Given the description of an element on the screen output the (x, y) to click on. 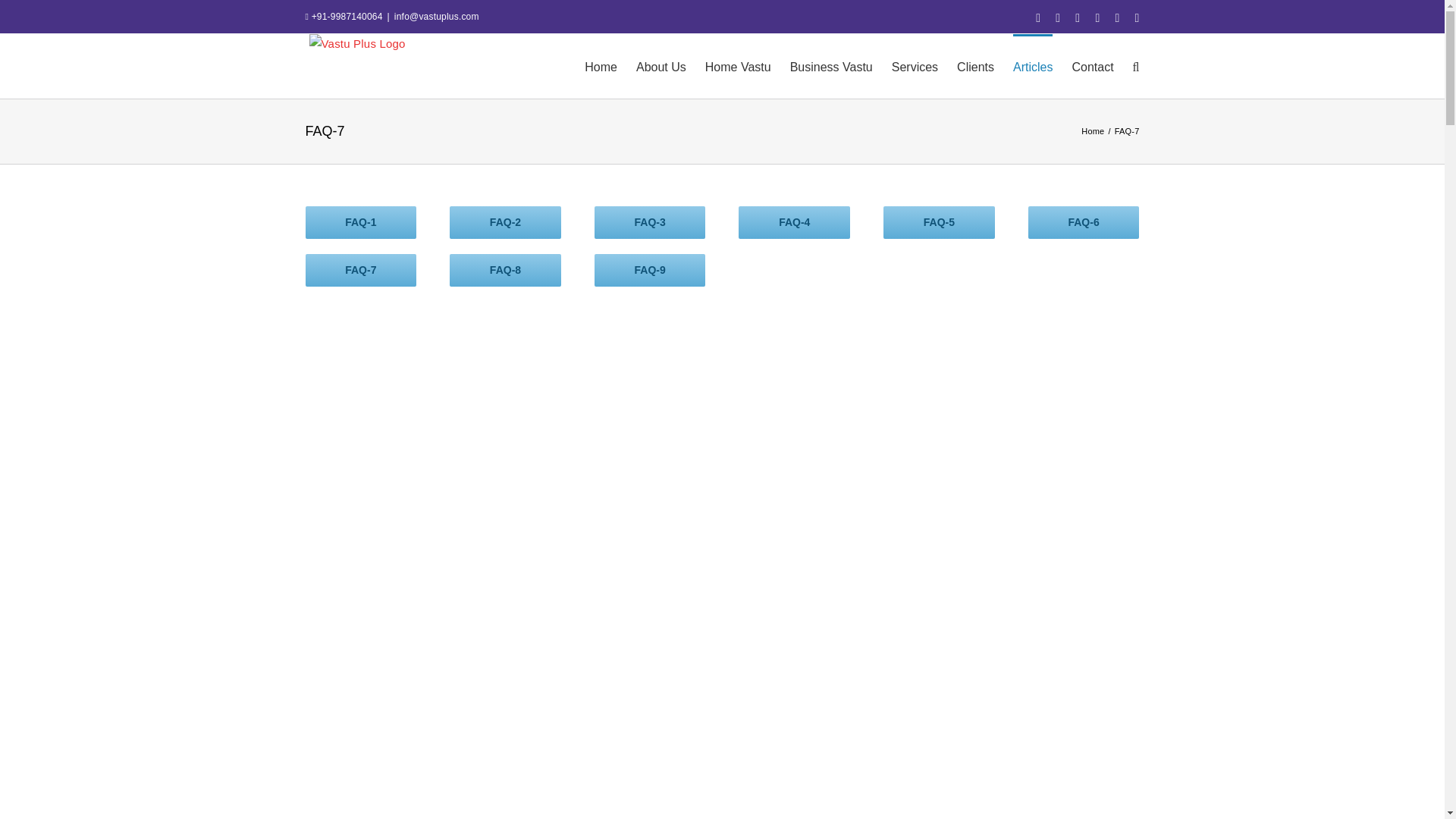
Home Vastu (737, 65)
Business Vastu (721, 254)
